Given the description of an element on the screen output the (x, y) to click on. 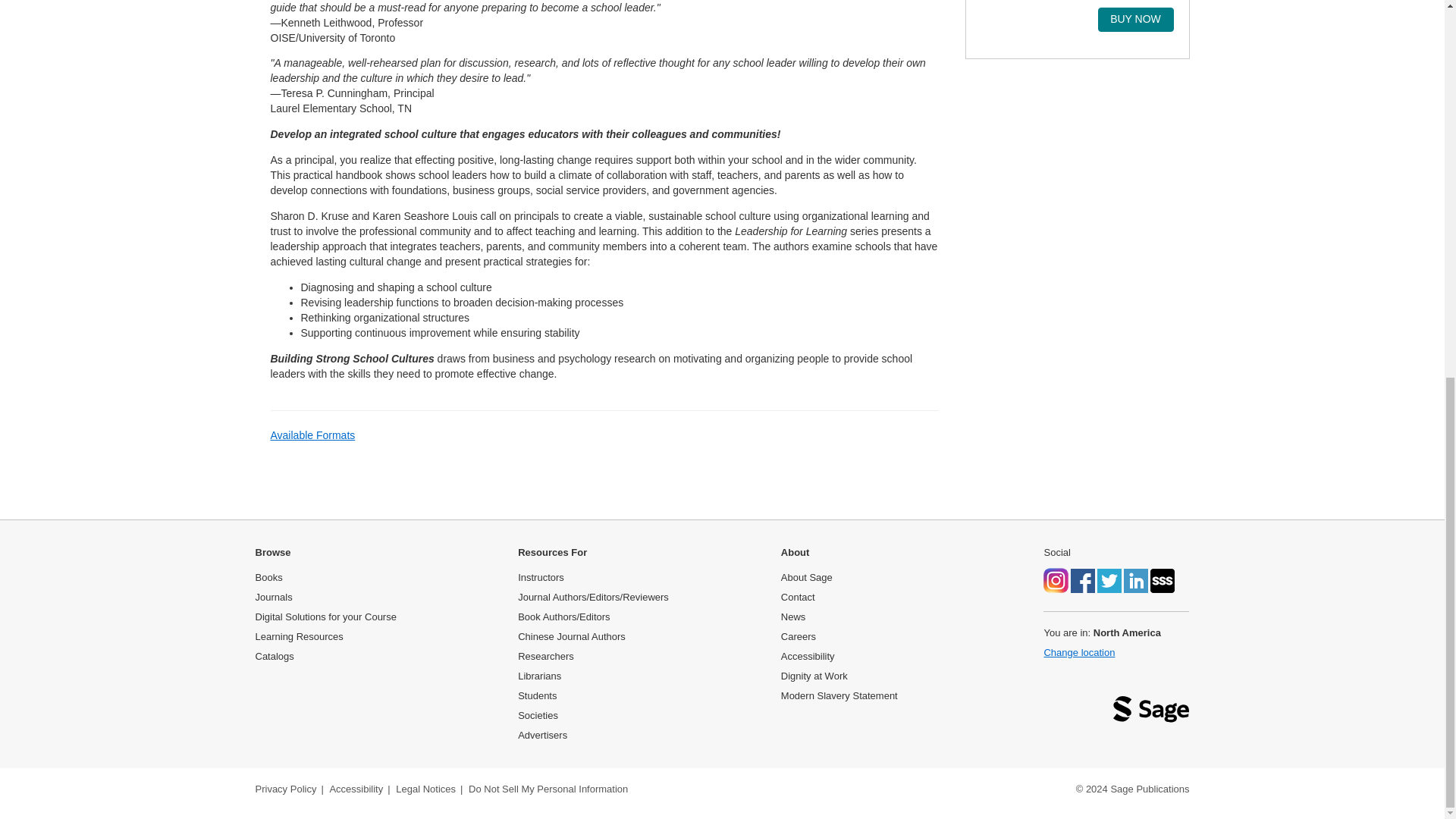
Sage logo: link back to homepage (1151, 712)
Catalogs (274, 655)
Buy now (1135, 19)
